Given the description of an element on the screen output the (x, y) to click on. 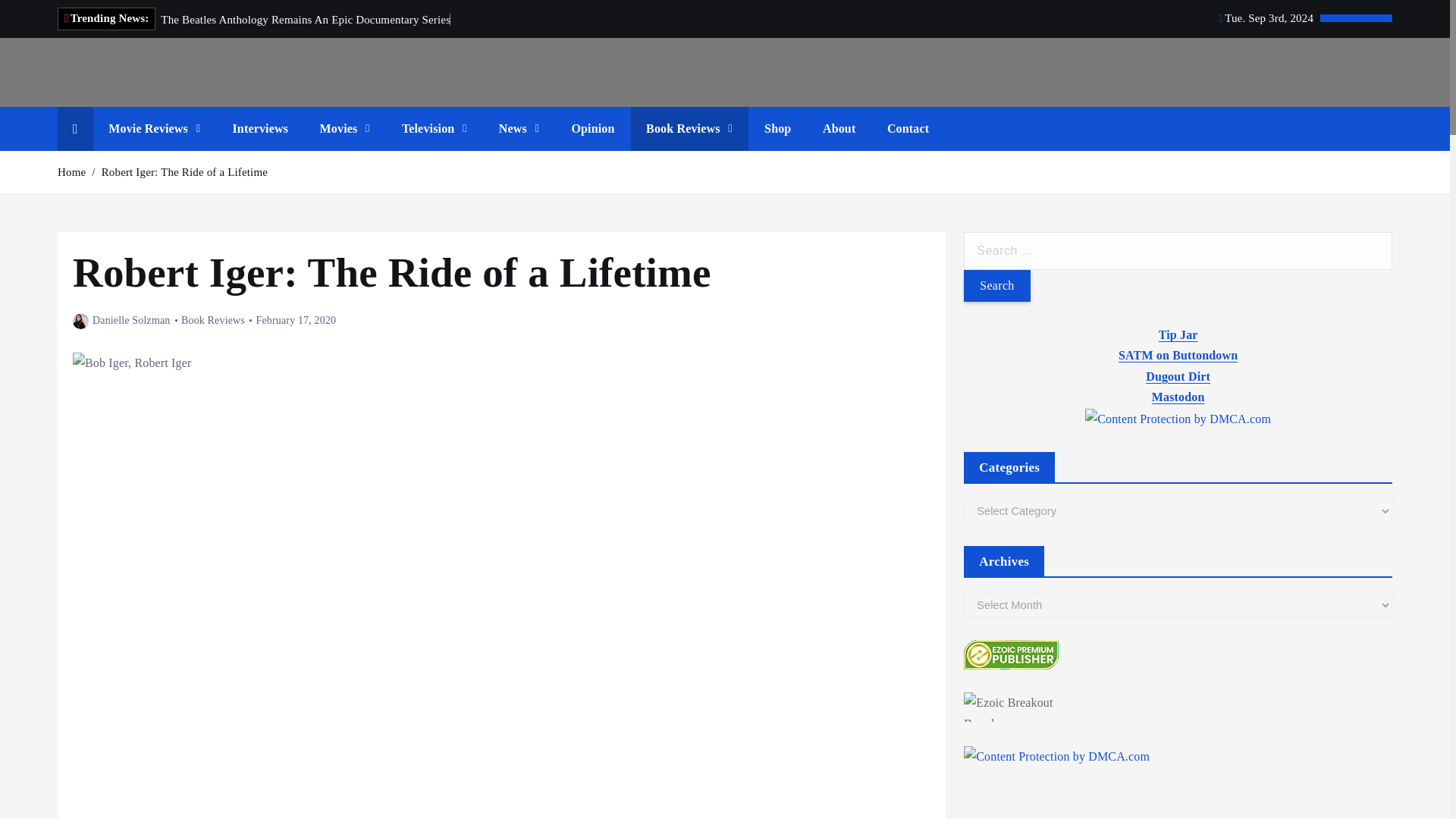
Movie Reviews (154, 128)
Interviews (259, 128)
Television (434, 128)
Interviews (259, 128)
Movies (344, 128)
Movies (344, 128)
Search (996, 286)
Movie Reviews (154, 128)
Search (996, 286)
News (518, 128)
